Given the description of an element on the screen output the (x, y) to click on. 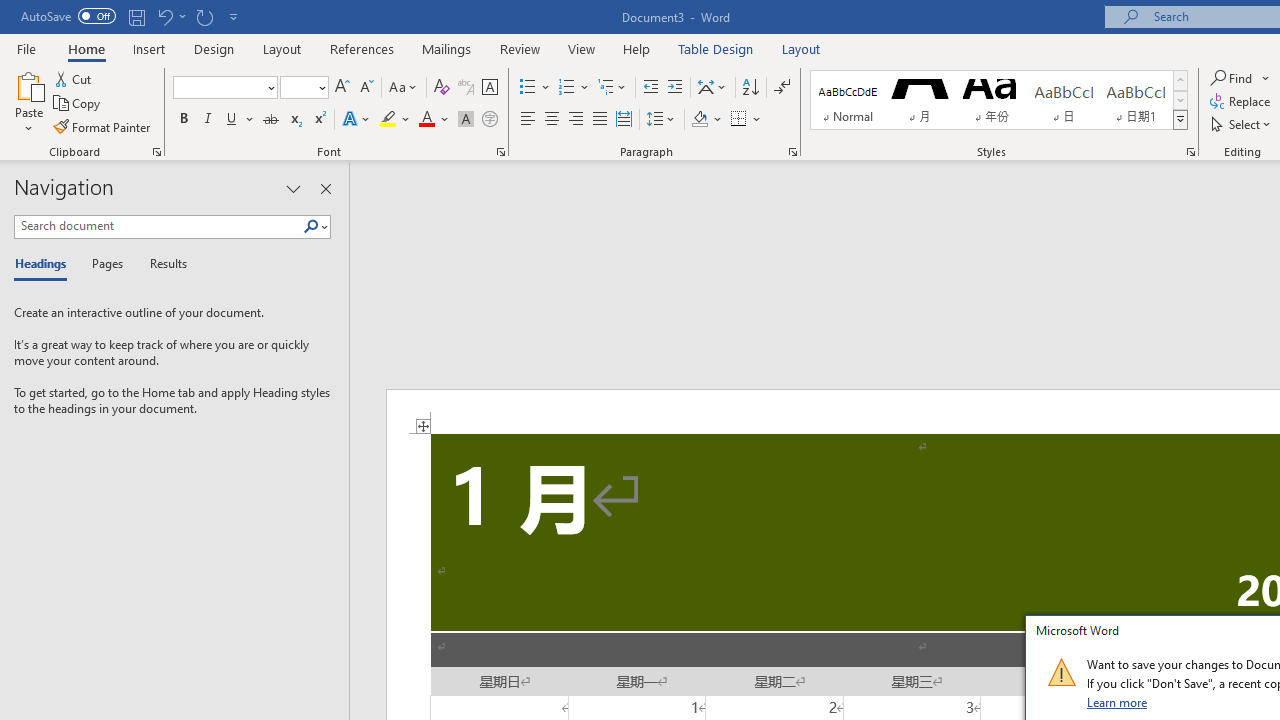
Undo Apply Quick Style (170, 15)
